Given the description of an element on the screen output the (x, y) to click on. 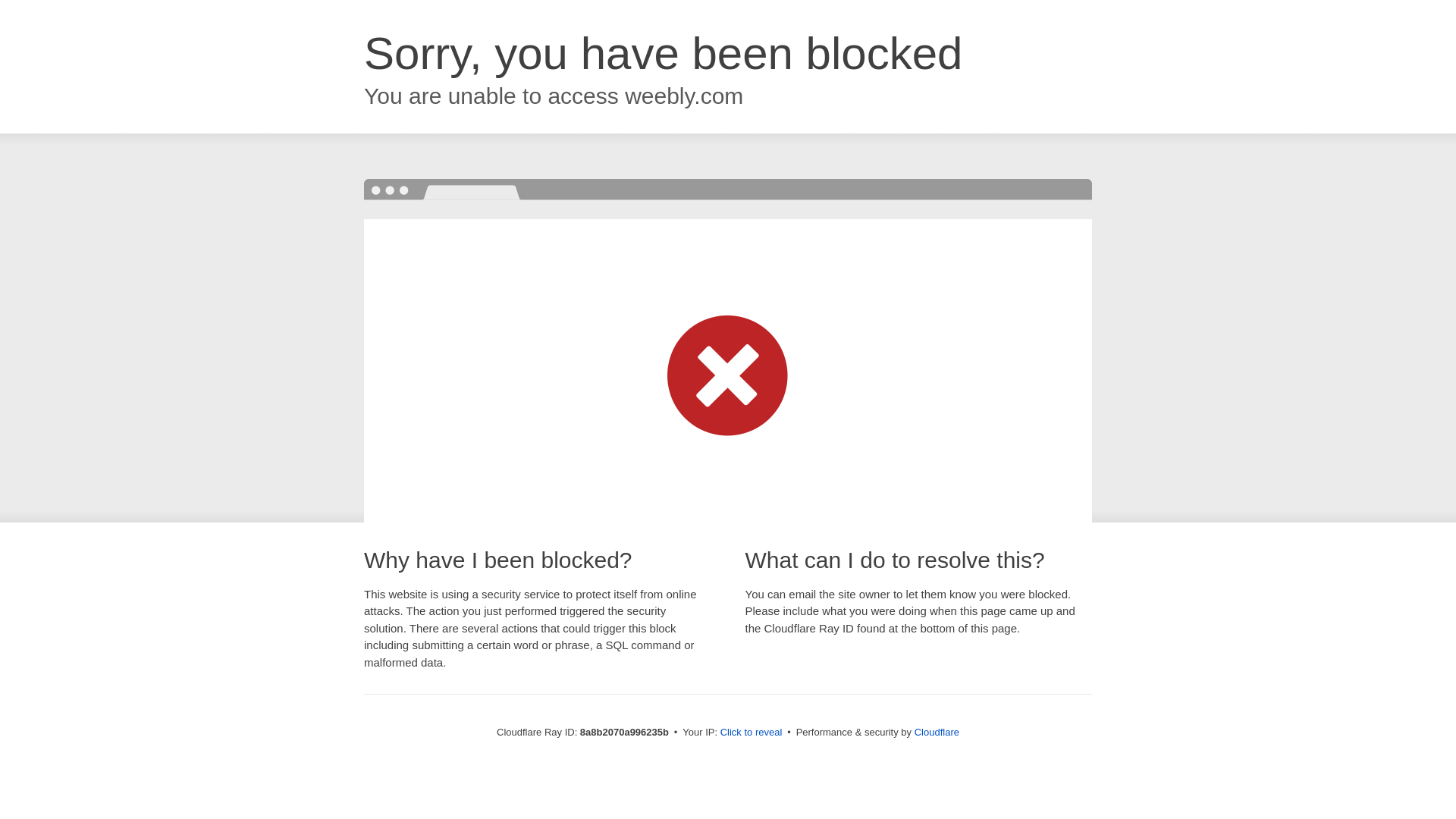
Click to reveal (751, 732)
Cloudflare (936, 731)
